Given the description of an element on the screen output the (x, y) to click on. 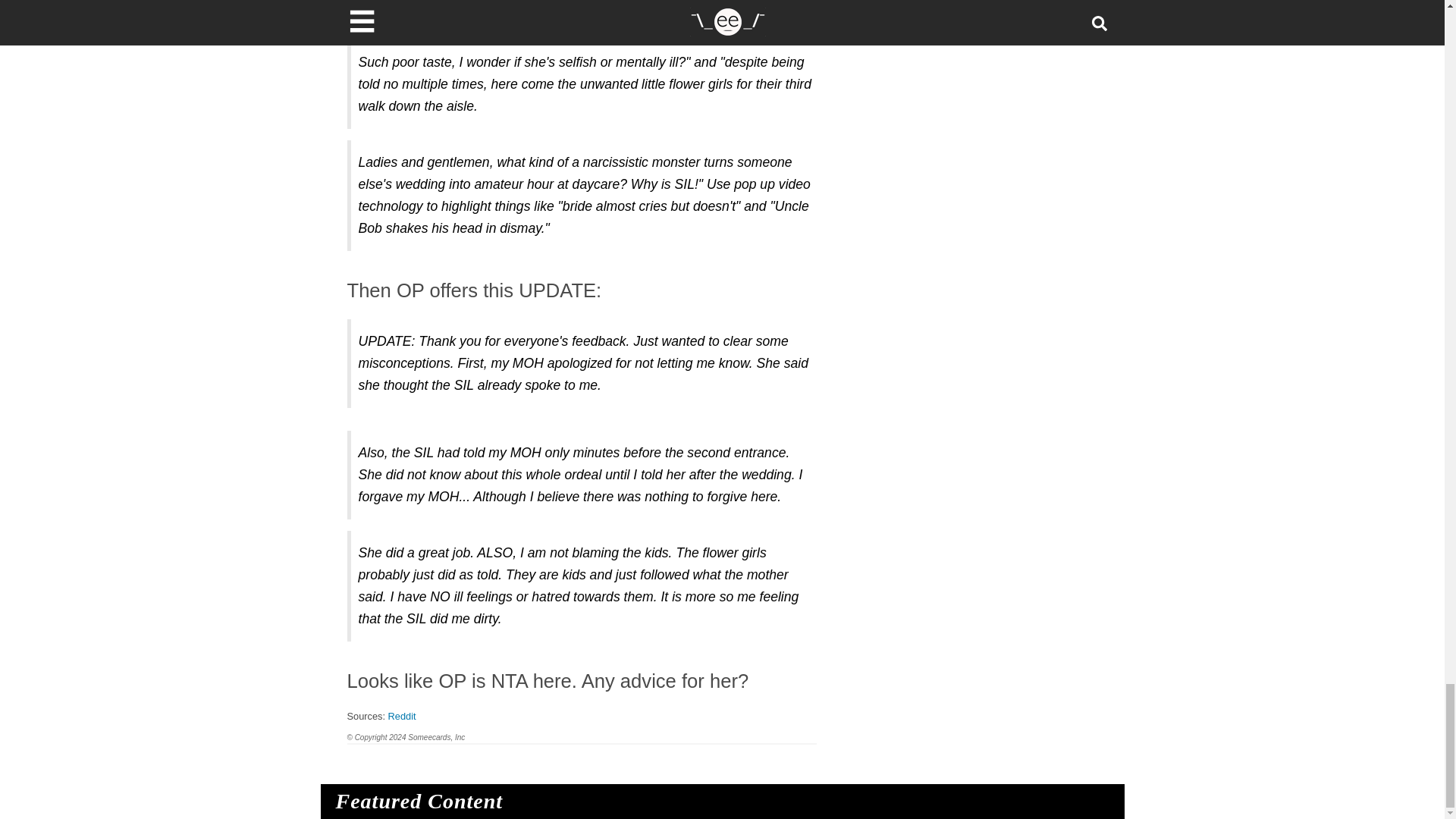
Reddit (402, 715)
